Given the description of an element on the screen output the (x, y) to click on. 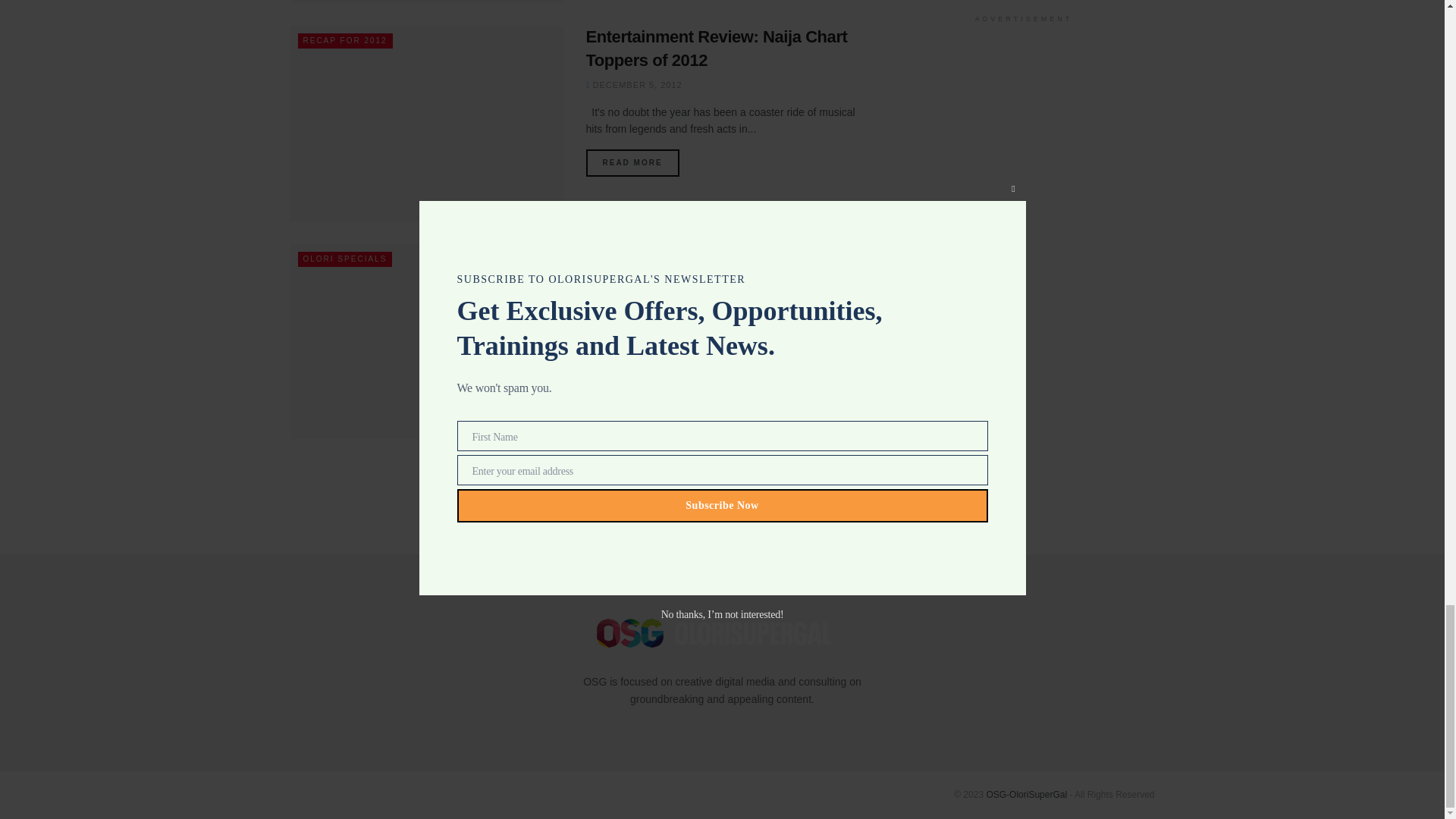
OSG-OloriSuperGal (1026, 794)
